Given the description of an element on the screen output the (x, y) to click on. 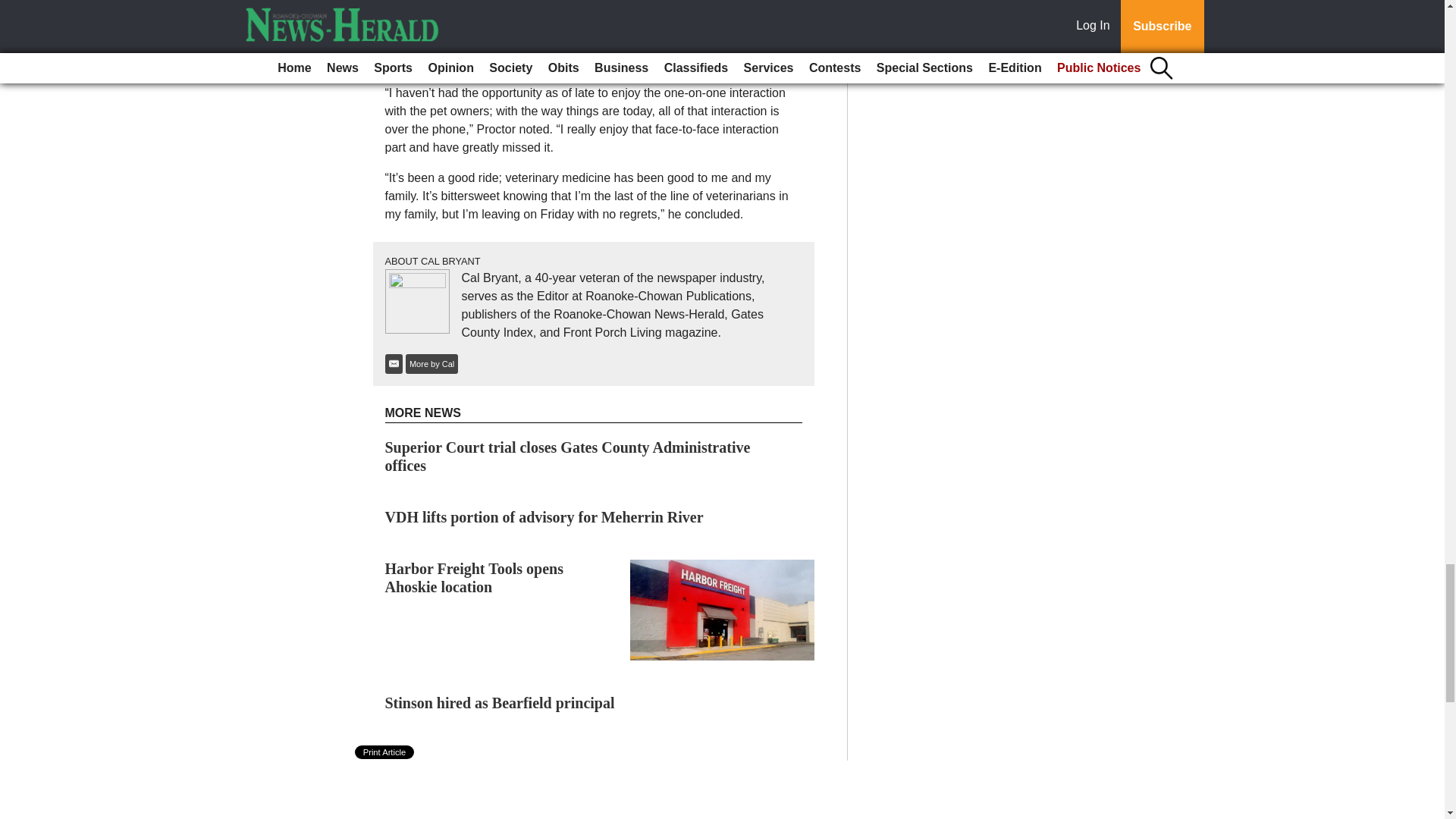
VDH lifts portion of advisory for Meherrin River (544, 516)
More by Cal (432, 362)
VDH lifts portion of advisory for Meherrin River (544, 516)
Stinson hired as Bearfield principal (499, 702)
Harbor Freight Tools opens Ahoskie location (474, 577)
